Given the description of an element on the screen output the (x, y) to click on. 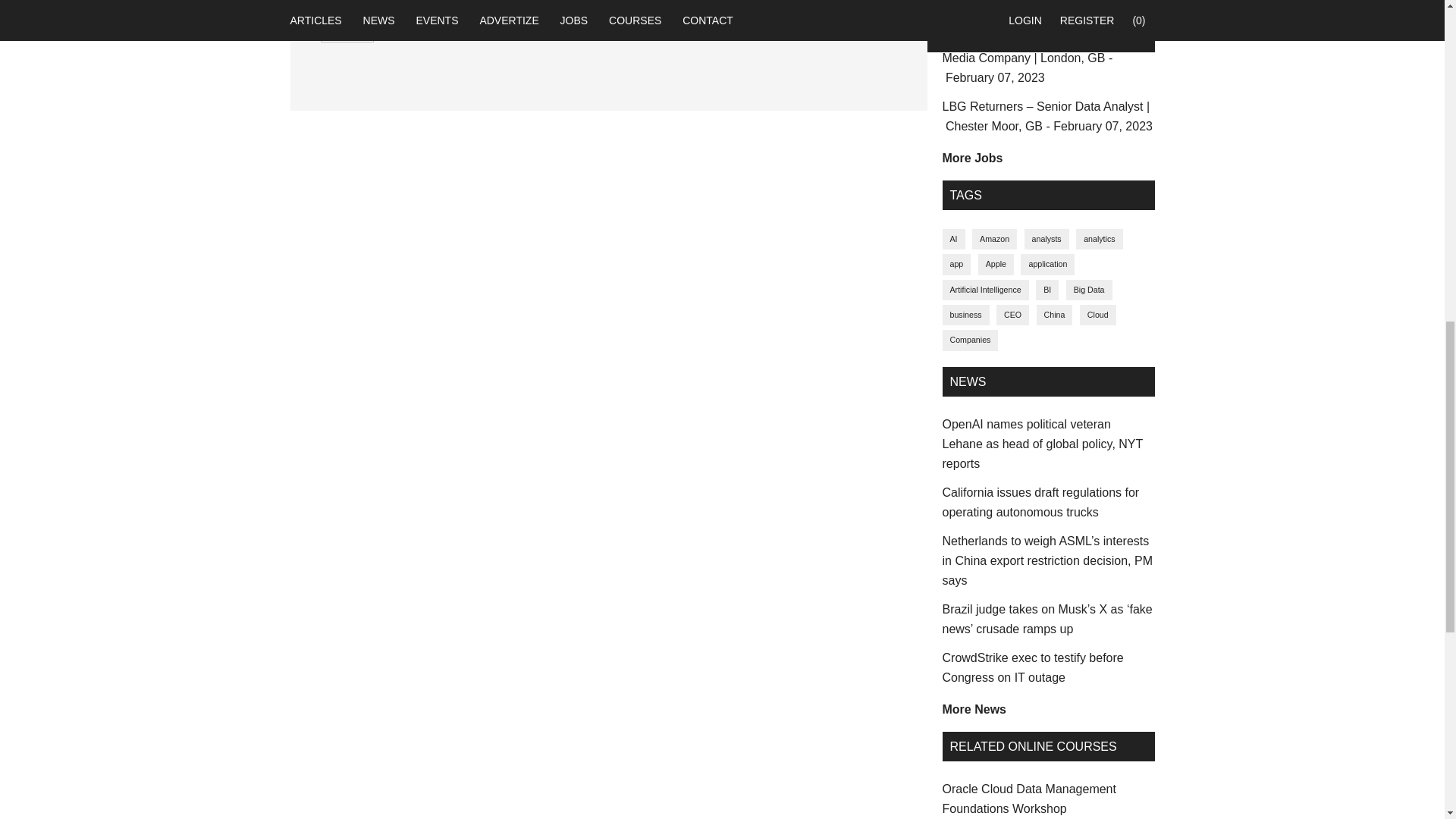
Senior Java Developer (1044, 7)
Oracle Cloud Data Management Foundations Workshop (1028, 798)
CrowdStrike exec to testify before Congress on IT outage (1032, 667)
